Given the description of an element on the screen output the (x, y) to click on. 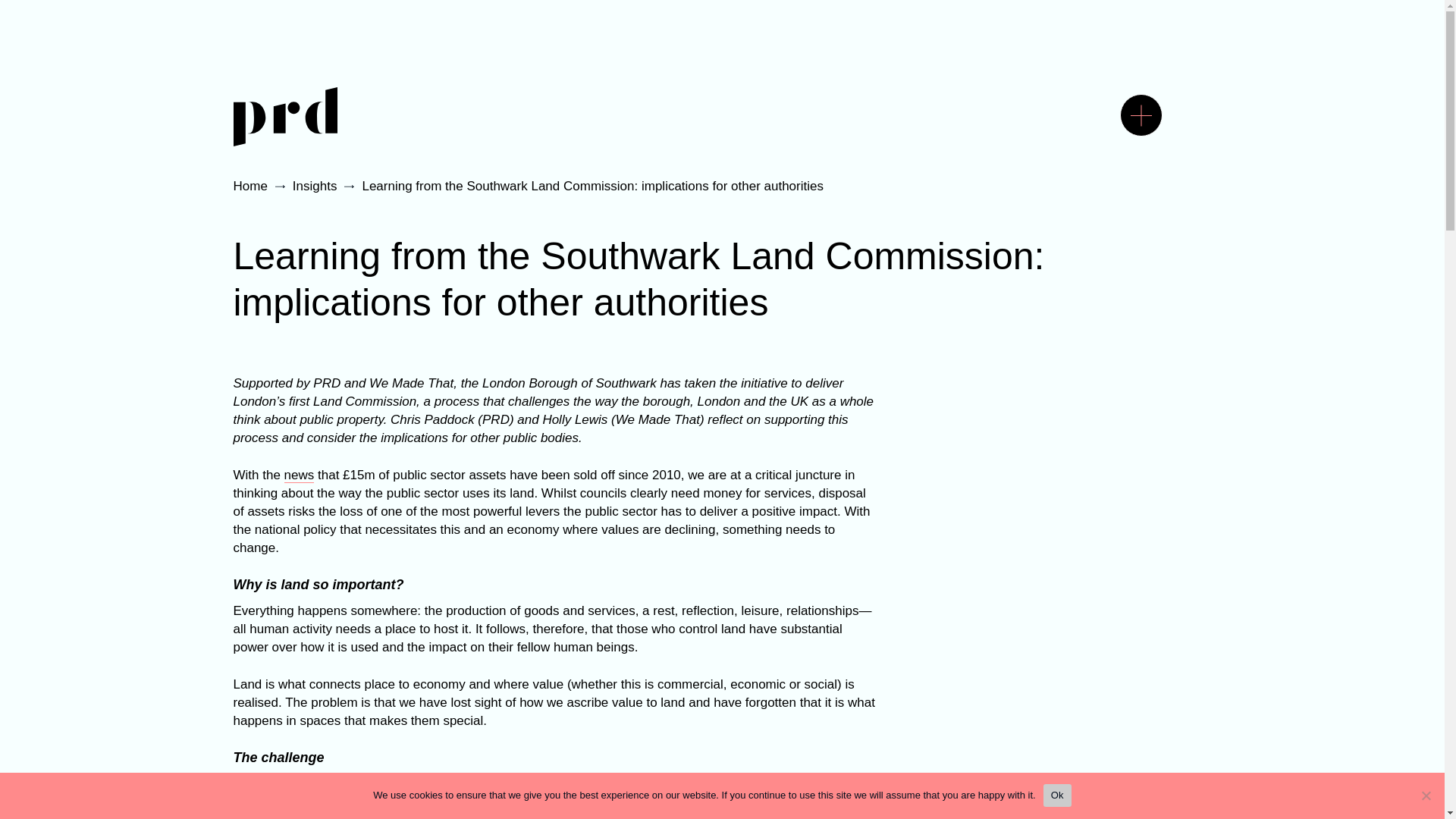
Home (249, 186)
Insights (314, 186)
No (1425, 795)
news (298, 475)
Ok (1057, 794)
